Given the description of an element on the screen output the (x, y) to click on. 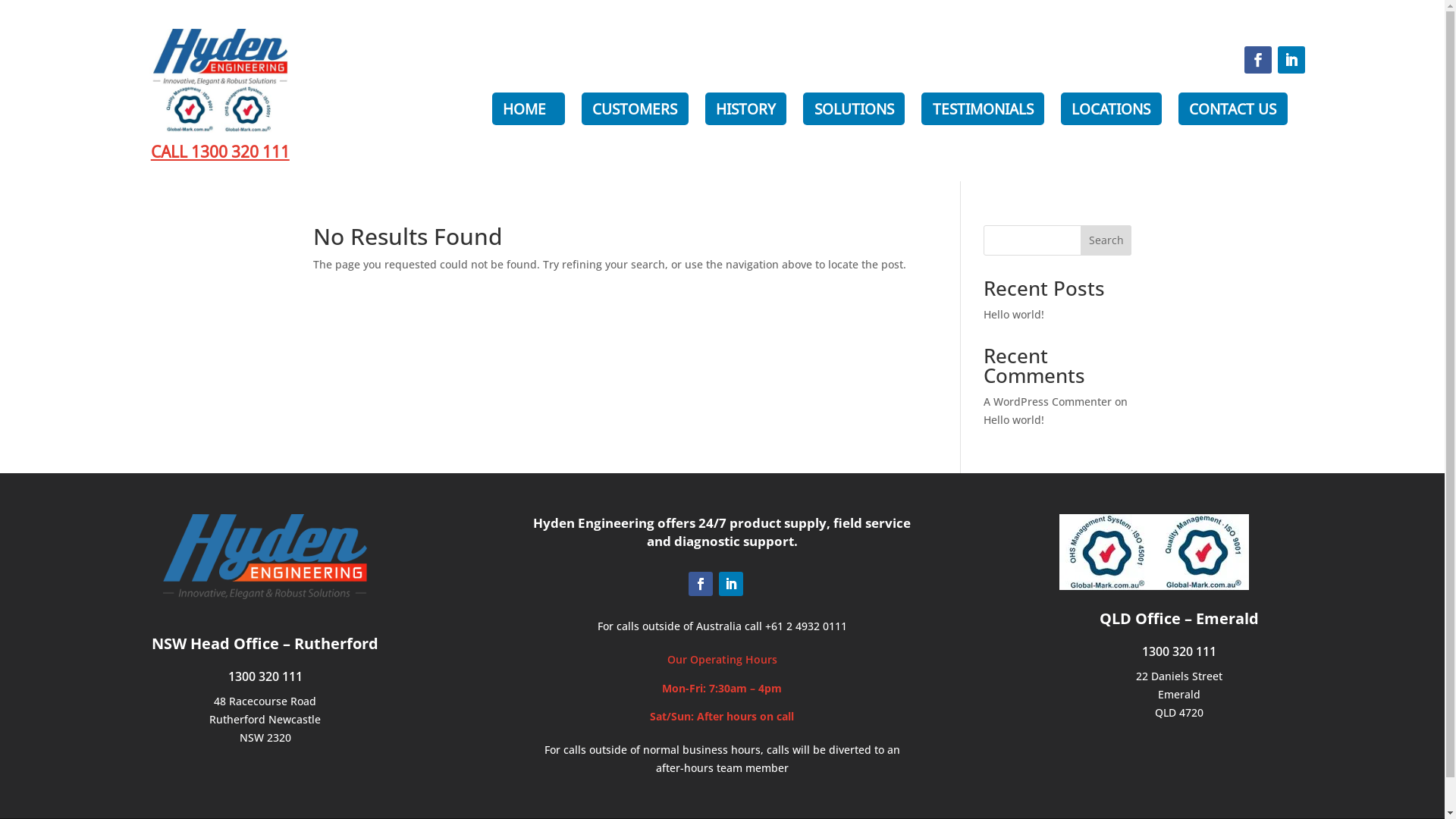
Hello world! Element type: text (1013, 419)
CUSTOMERS Element type: text (634, 108)
Follow on LinkedIn Element type: hover (1291, 59)
Hyden Element type: hover (265, 556)
Search Element type: text (1106, 240)
Hello world! Element type: text (1013, 314)
Follow on Facebook Element type: hover (700, 583)
HISTORY Element type: text (746, 108)
SOLUTIONS Element type: text (853, 108)
HYDEN LOGO Element type: hover (219, 80)
HOME Element type: text (528, 108)
Follow on LinkedIn Element type: hover (730, 583)
Follow on Facebook Element type: hover (1257, 59)
CONTACT US Element type: text (1232, 108)
TESTIMONIALS Element type: text (982, 108)
A WordPress Commenter Element type: text (1047, 401)
LOCATIONS Element type: text (1110, 108)
